Given the description of an element on the screen output the (x, y) to click on. 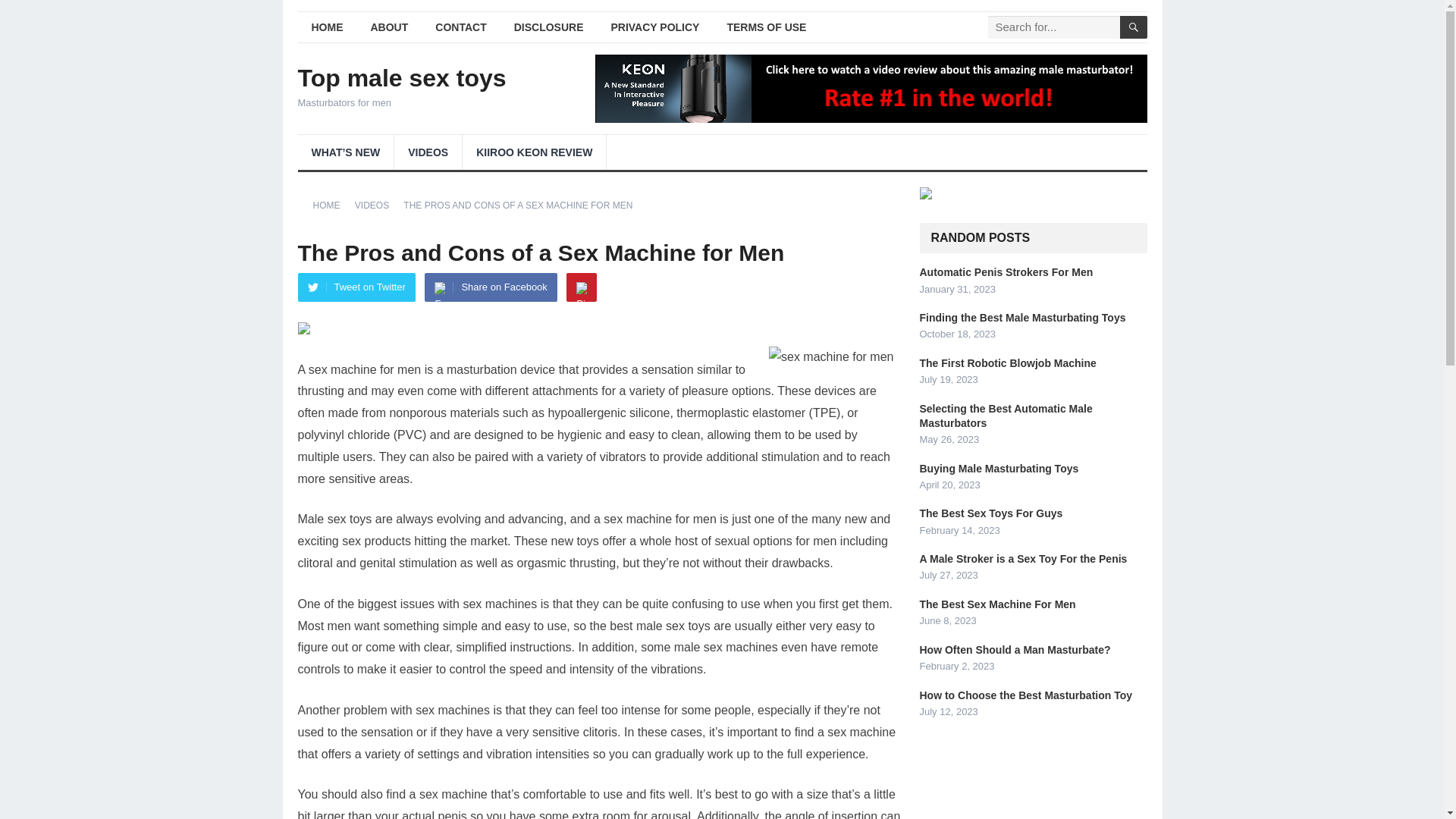
Automatic Penis Strokers For Men (1005, 272)
HOME (331, 204)
Top male sex toys (401, 78)
TERMS OF USE (766, 27)
View all posts in Videos (376, 204)
HOME (326, 27)
KIIROO KEON REVIEW (534, 152)
CONTACT (460, 27)
VIDEOS (427, 152)
Share on Facebook (490, 287)
